Given the description of an element on the screen output the (x, y) to click on. 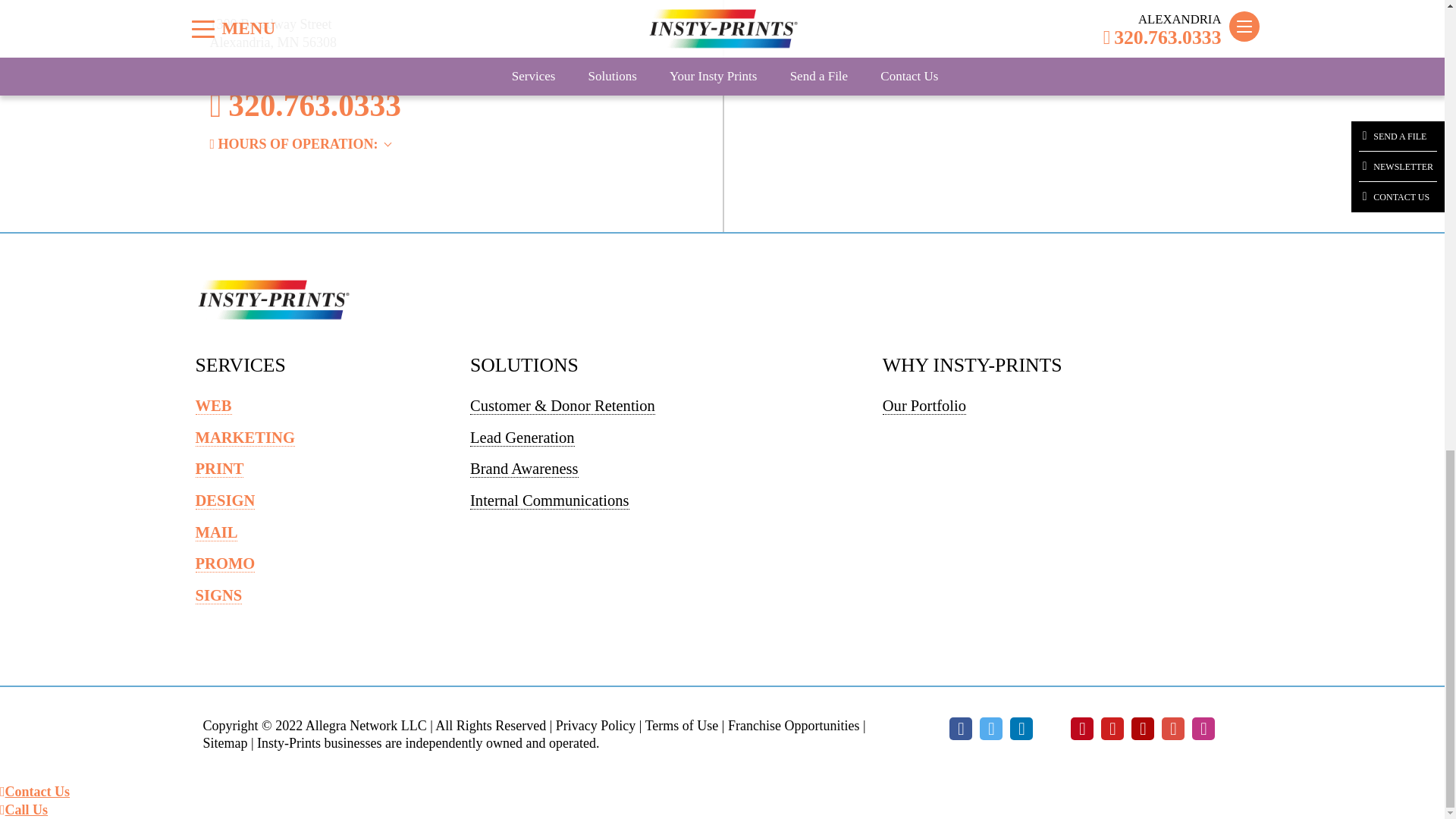
320.763.0333 (445, 105)
Visit Google Map (266, 62)
GET DIRECTIONS (266, 62)
CALL US (24, 809)
